Given the description of an element on the screen output the (x, y) to click on. 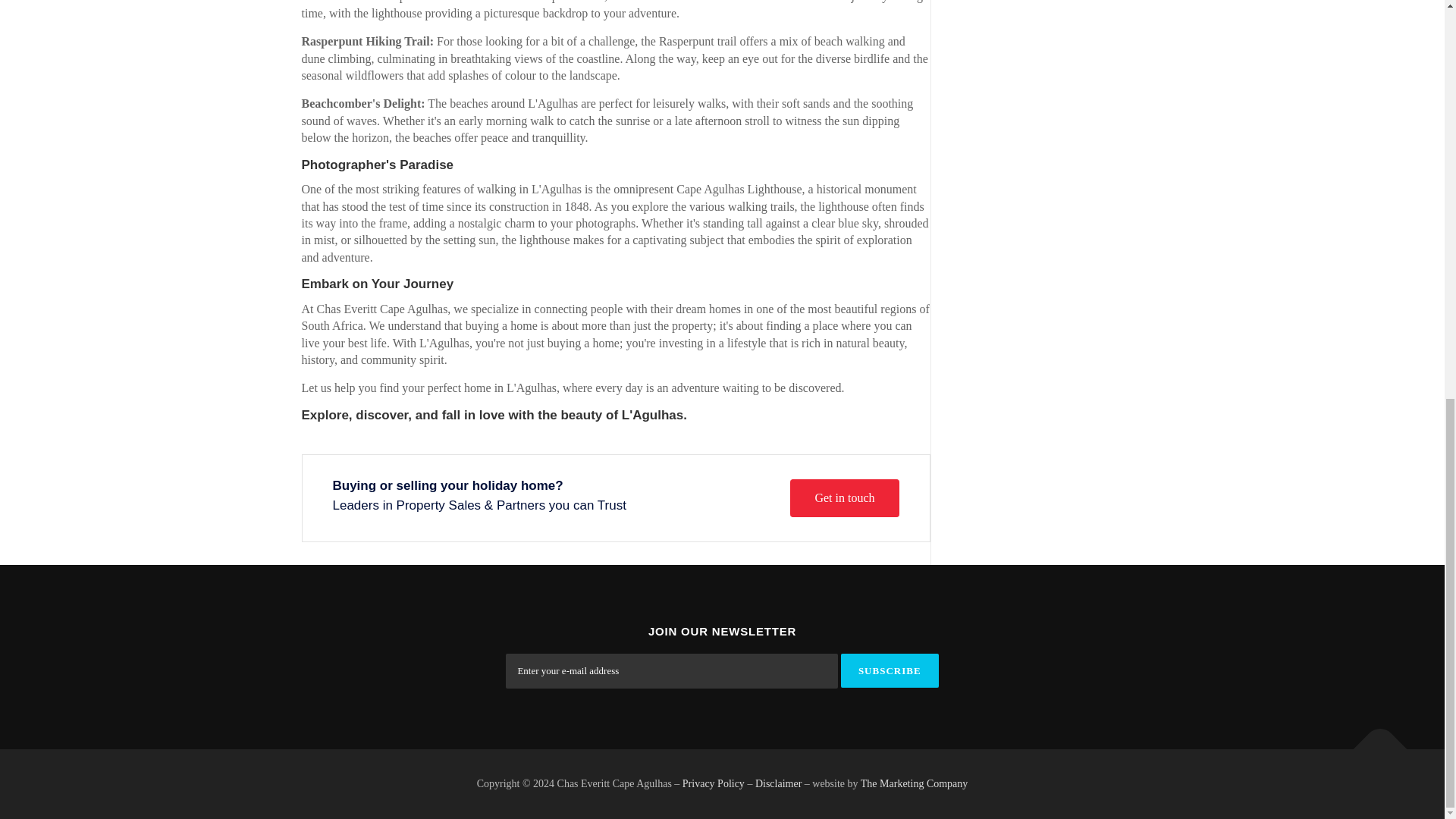
Get in touch (844, 497)
Subscribe (890, 670)
Subscribe (890, 670)
The Marketing Company (914, 783)
Disclaimer (778, 783)
Privacy Policy (713, 783)
